Given the description of an element on the screen output the (x, y) to click on. 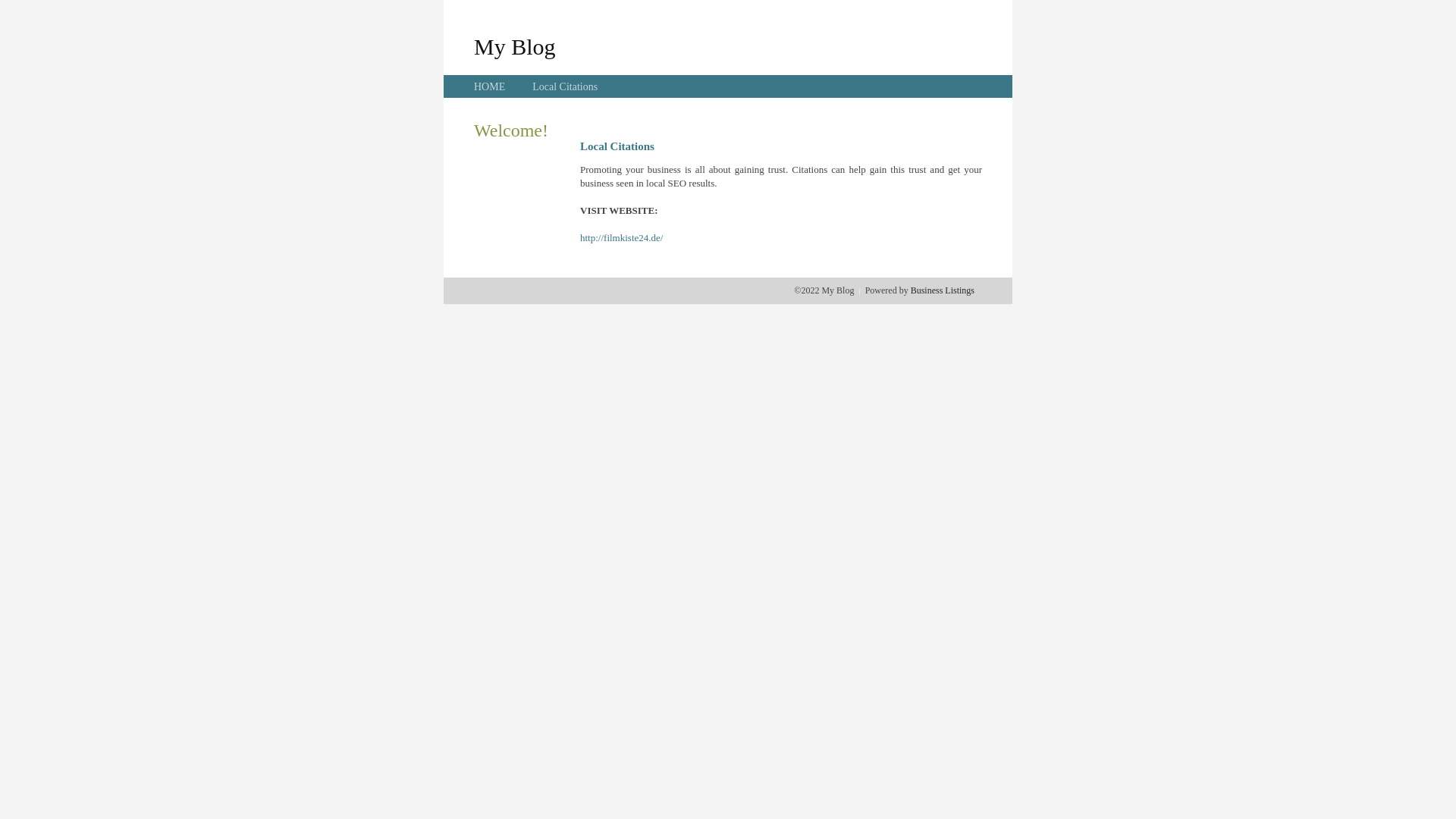
My Blog Element type: text (514, 46)
HOME Element type: text (489, 86)
http://filmkiste24.de/ Element type: text (621, 237)
Business Listings Element type: text (942, 290)
Local Citations Element type: text (564, 86)
